Given the description of an element on the screen output the (x, y) to click on. 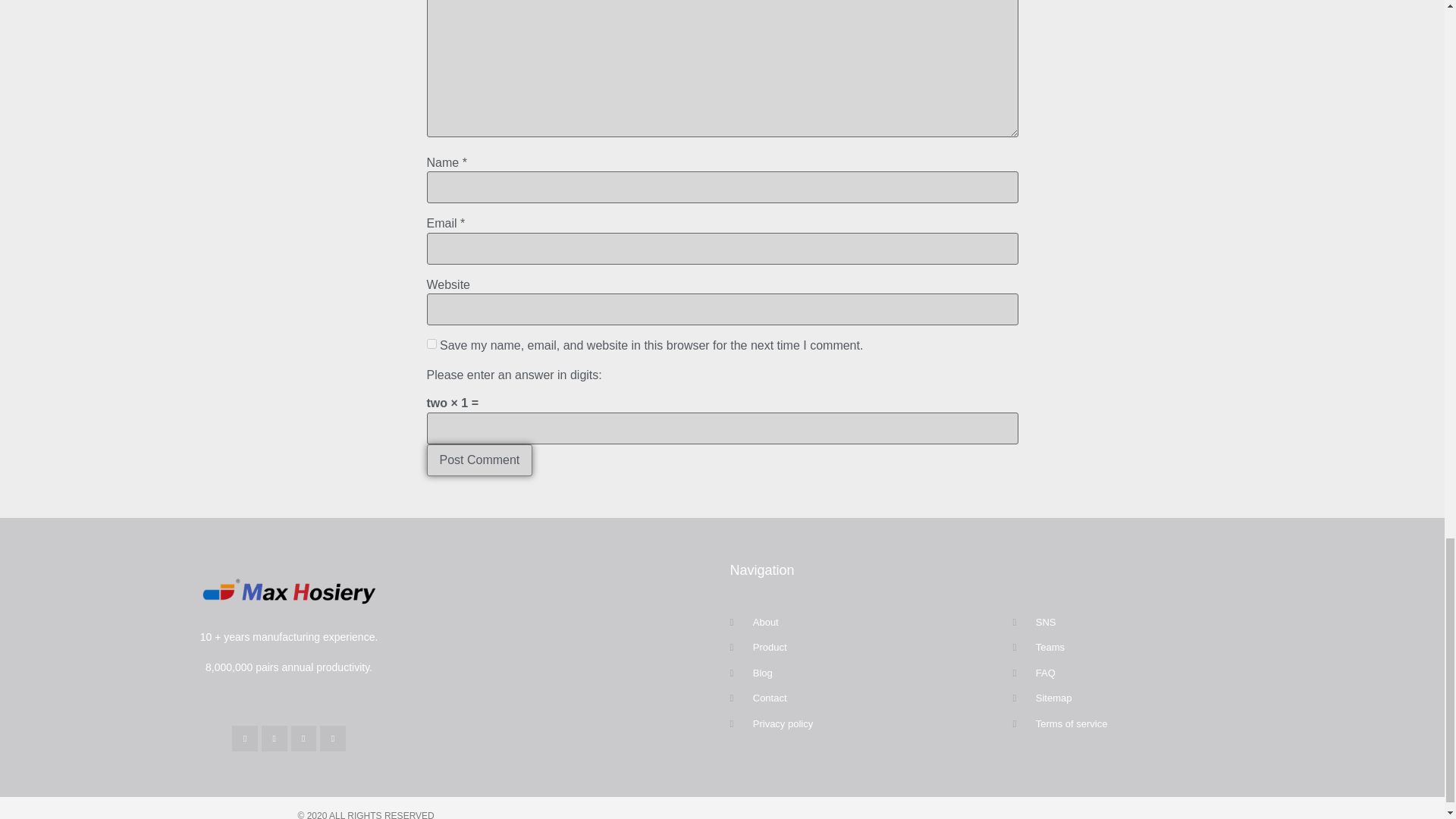
Post Comment (479, 459)
yes (430, 343)
